Given the description of an element on the screen output the (x, y) to click on. 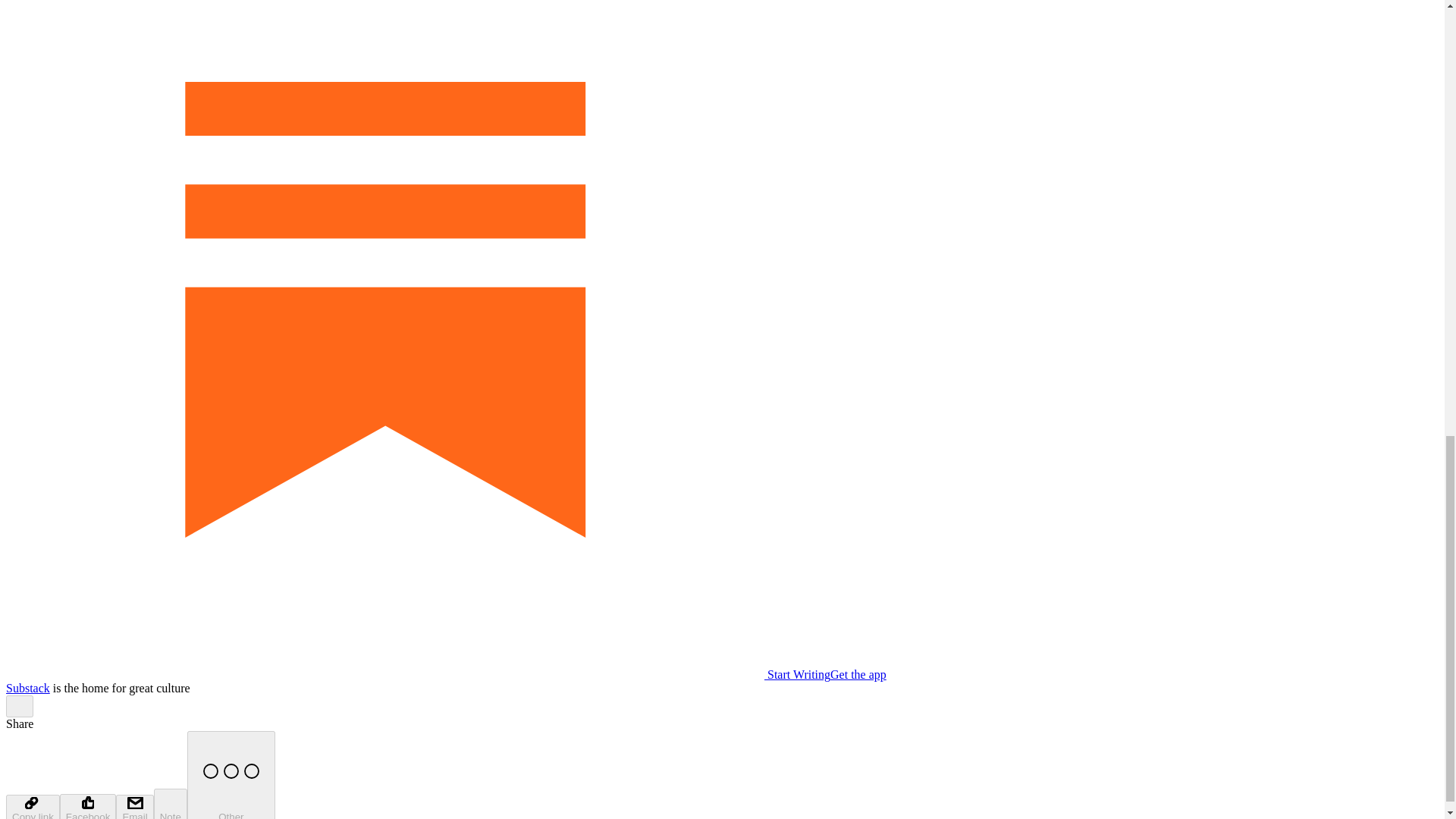
Substack (27, 687)
Get the app (857, 674)
Start Writing (417, 674)
